Given the description of an element on the screen output the (x, y) to click on. 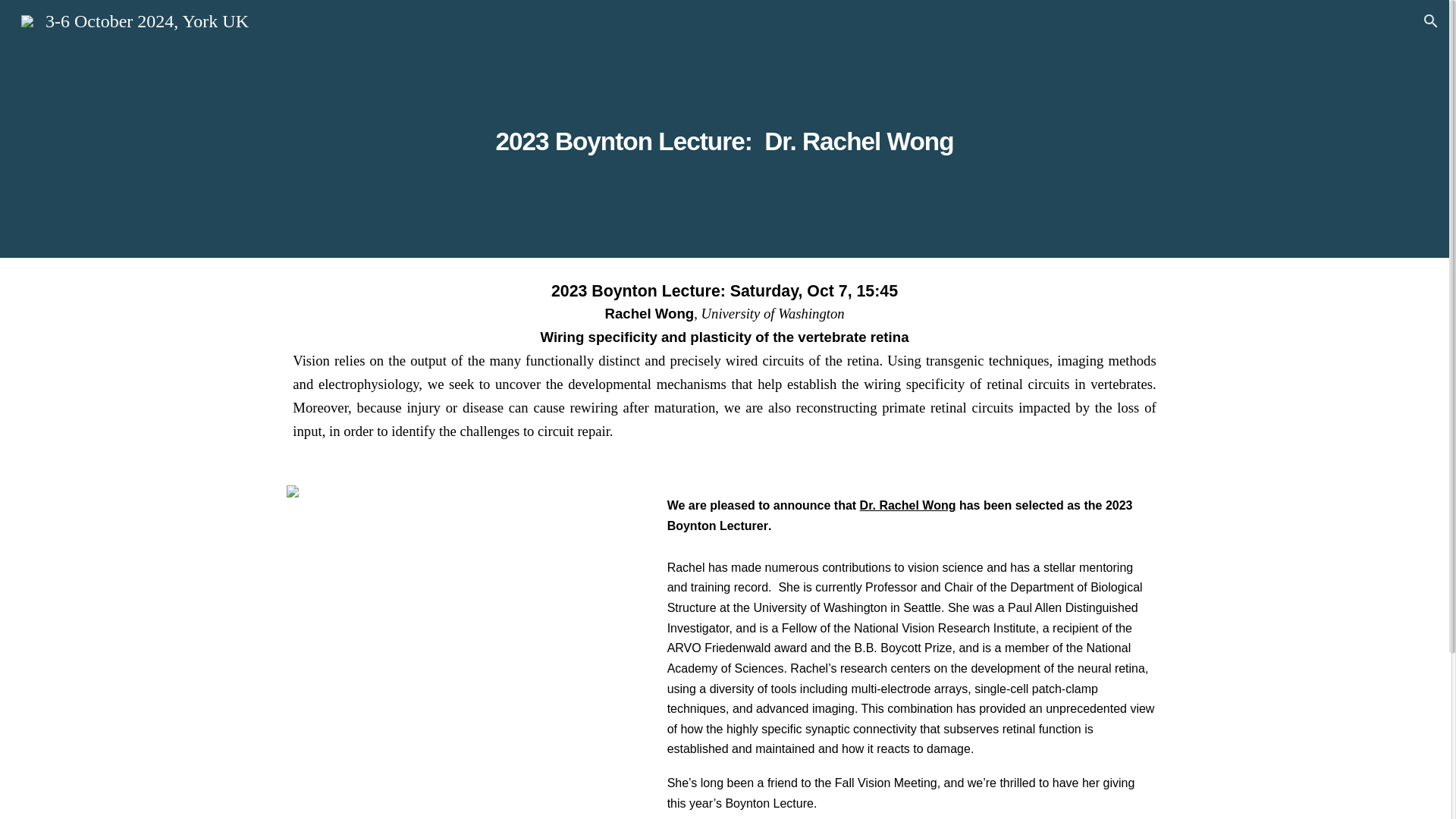
3-6 October 2024, York UK (134, 19)
